Given the description of an element on the screen output the (x, y) to click on. 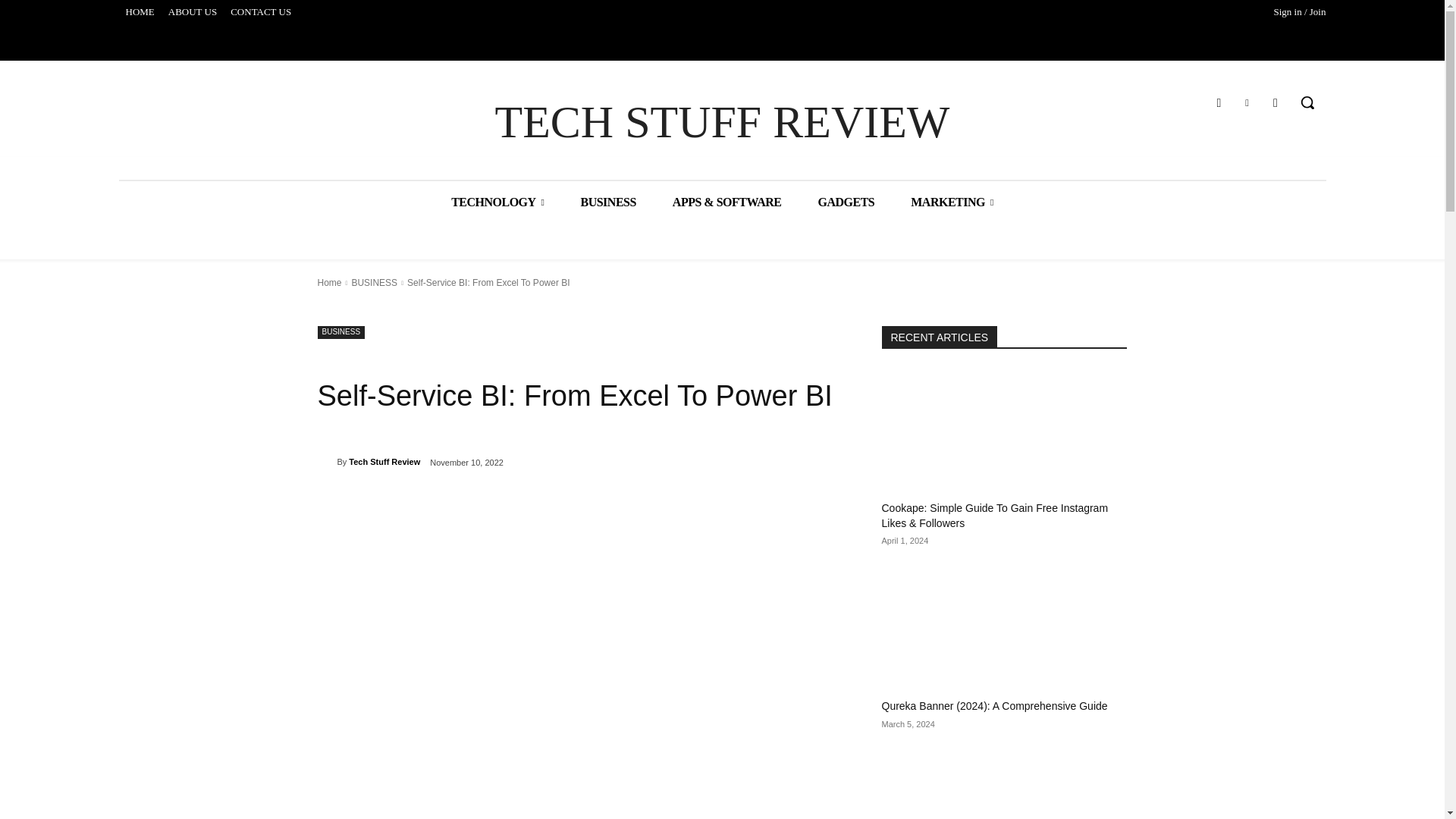
ABOUT US (192, 12)
TECHNOLOGY (497, 201)
Tech Stuff Review (326, 461)
TECH STUFF REVIEW (721, 122)
Youtube (1275, 102)
CONTACT US (261, 12)
HOME (138, 12)
Twitter (1246, 102)
View all posts in BUSINESS (373, 282)
Facebook (1218, 102)
